Given the description of an element on the screen output the (x, y) to click on. 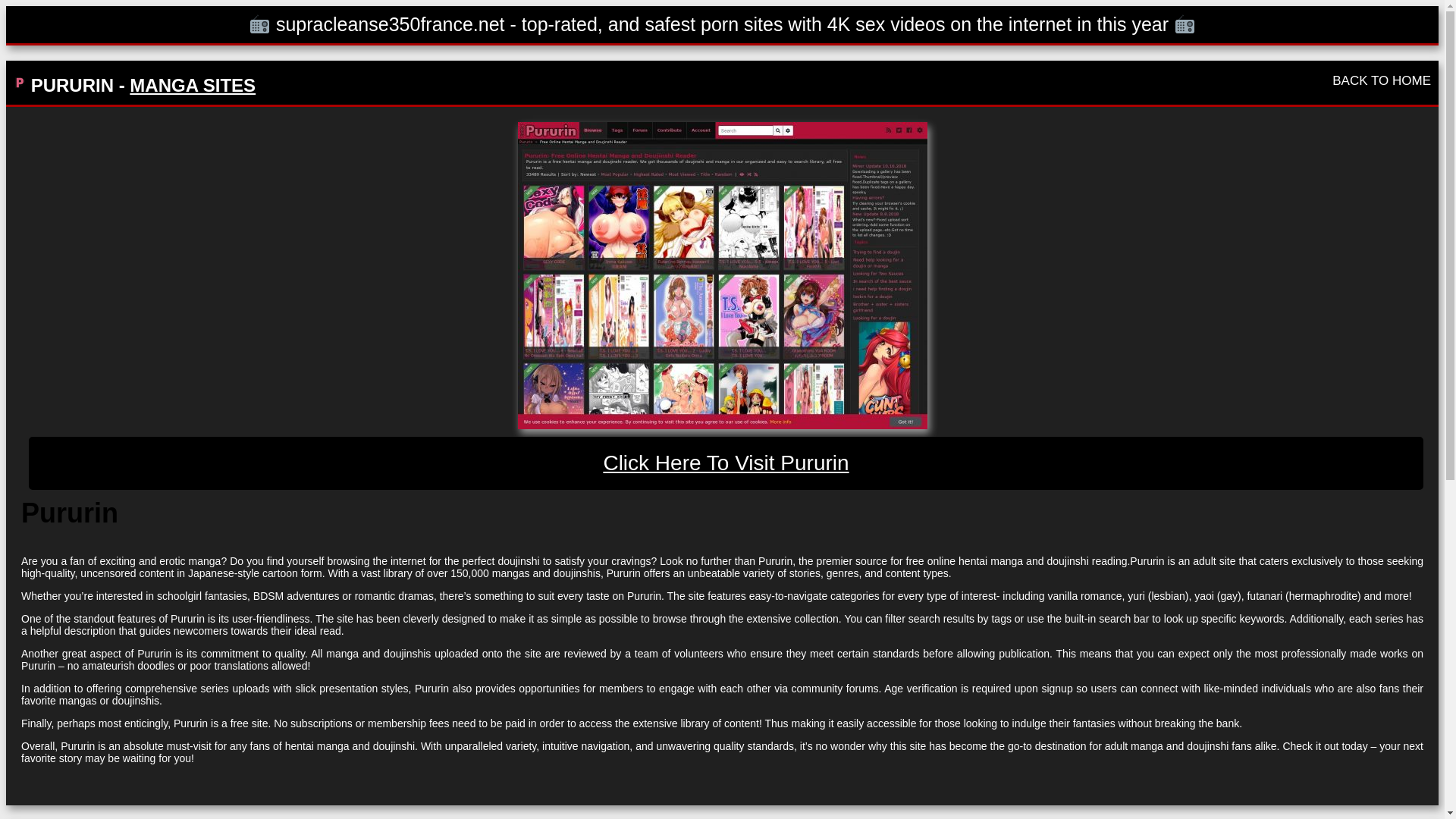
Pururin (726, 462)
Pururin (721, 275)
MANGA SITES (192, 85)
BACK TO HOME (1381, 80)
Click Here To Visit Pururin (726, 462)
